Given the description of an element on the screen output the (x, y) to click on. 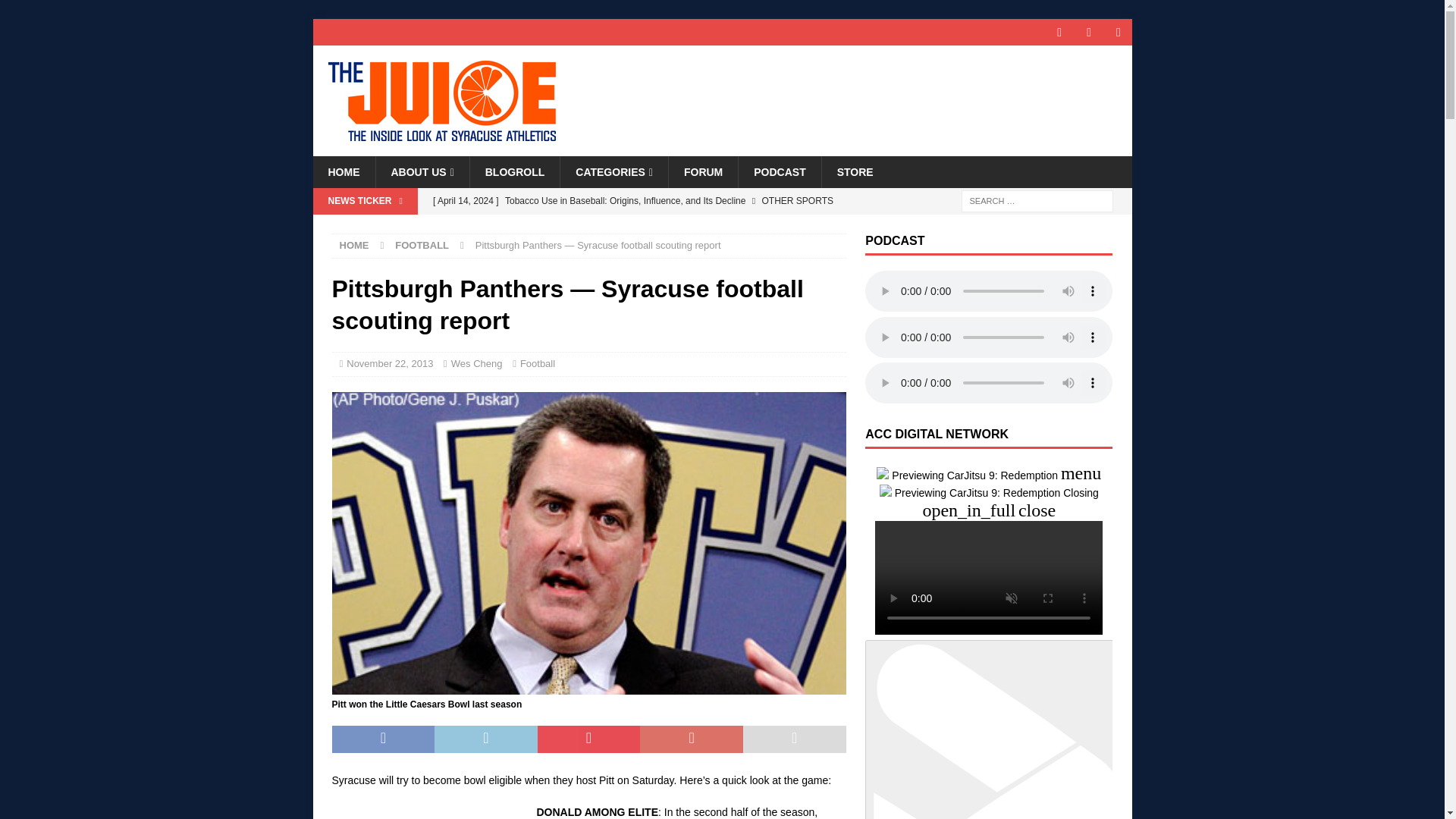
PODCAST (779, 172)
FOOTBALL (421, 244)
FORUM (703, 172)
Football (536, 363)
BLOGROLL (514, 172)
STORE (854, 172)
ABOUT US (421, 172)
Search (56, 11)
CATEGORIES (613, 172)
Wes Cheng (476, 363)
